Given the description of an element on the screen output the (x, y) to click on. 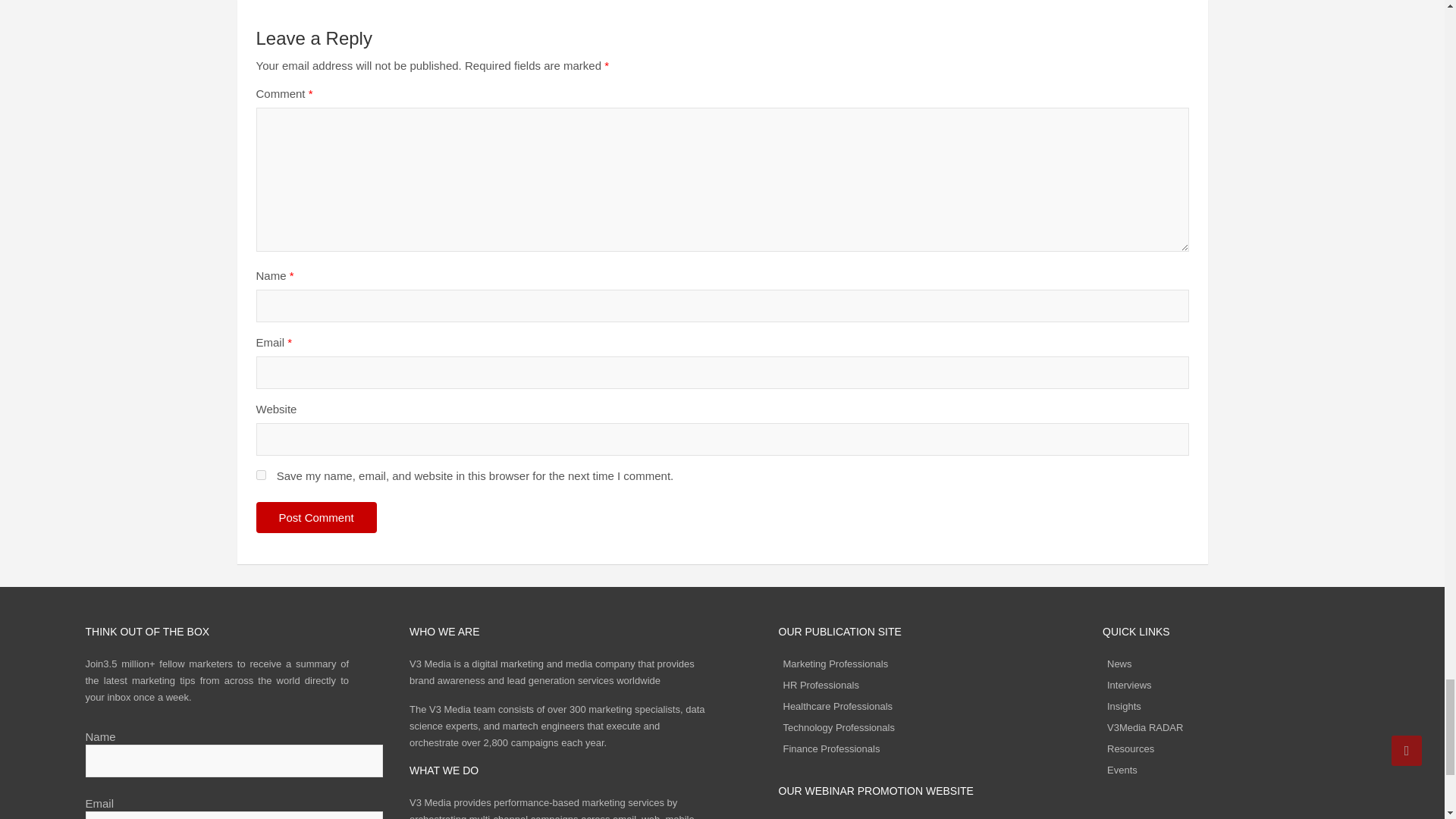
Post Comment (316, 517)
yes (261, 474)
